Given the description of an element on the screen output the (x, y) to click on. 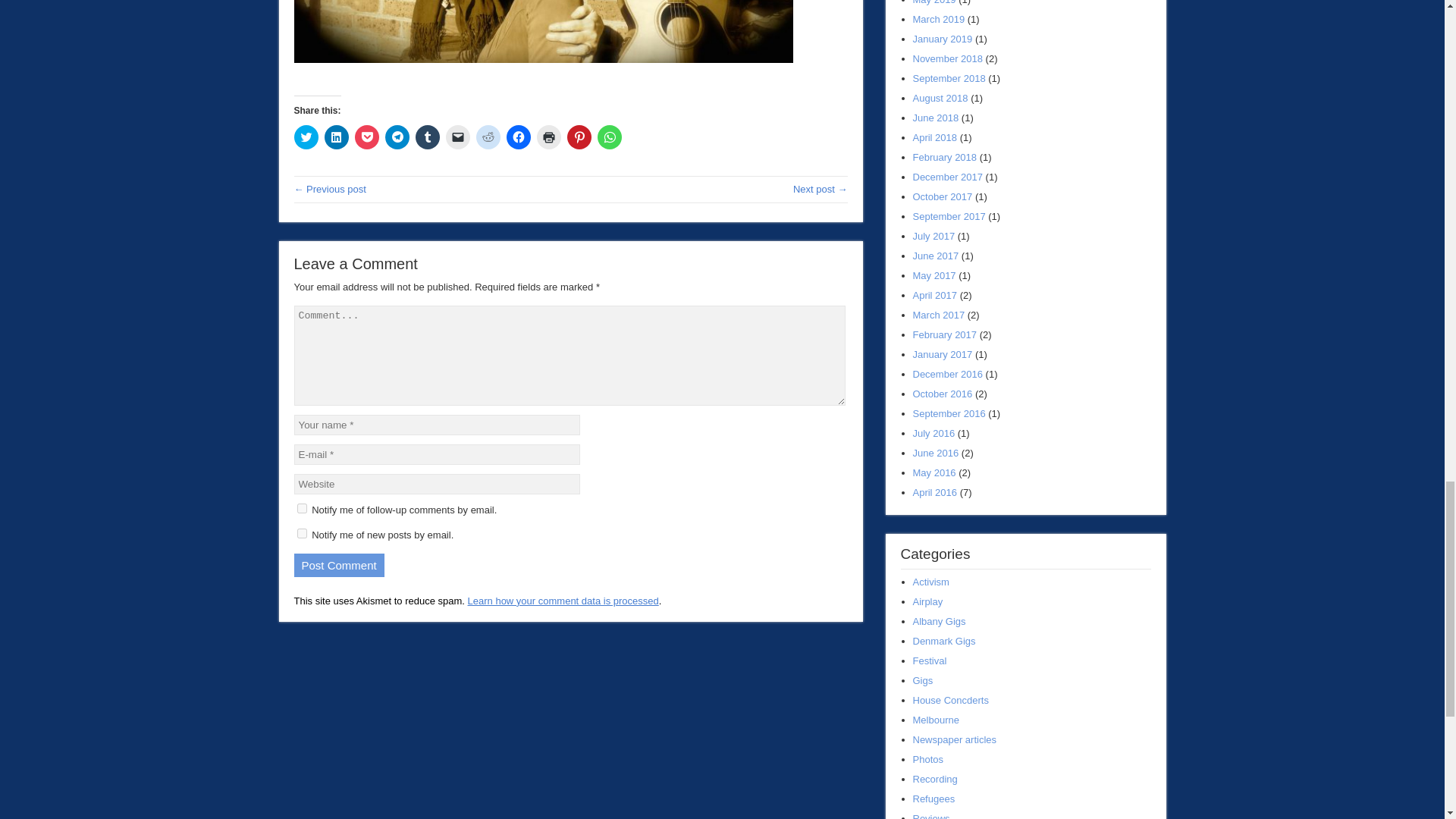
subscribe (302, 533)
Click to share on WhatsApp (608, 137)
"Coffee my Dear" (330, 188)
Click to share on LinkedIn (336, 137)
Click to print (548, 137)
Click to share on Tumblr (426, 137)
Click to share on Pocket (366, 137)
Post Comment (339, 565)
Click to share on Twitter (306, 137)
Click to email a link to a friend (457, 137)
